Given the description of an element on the screen output the (x, y) to click on. 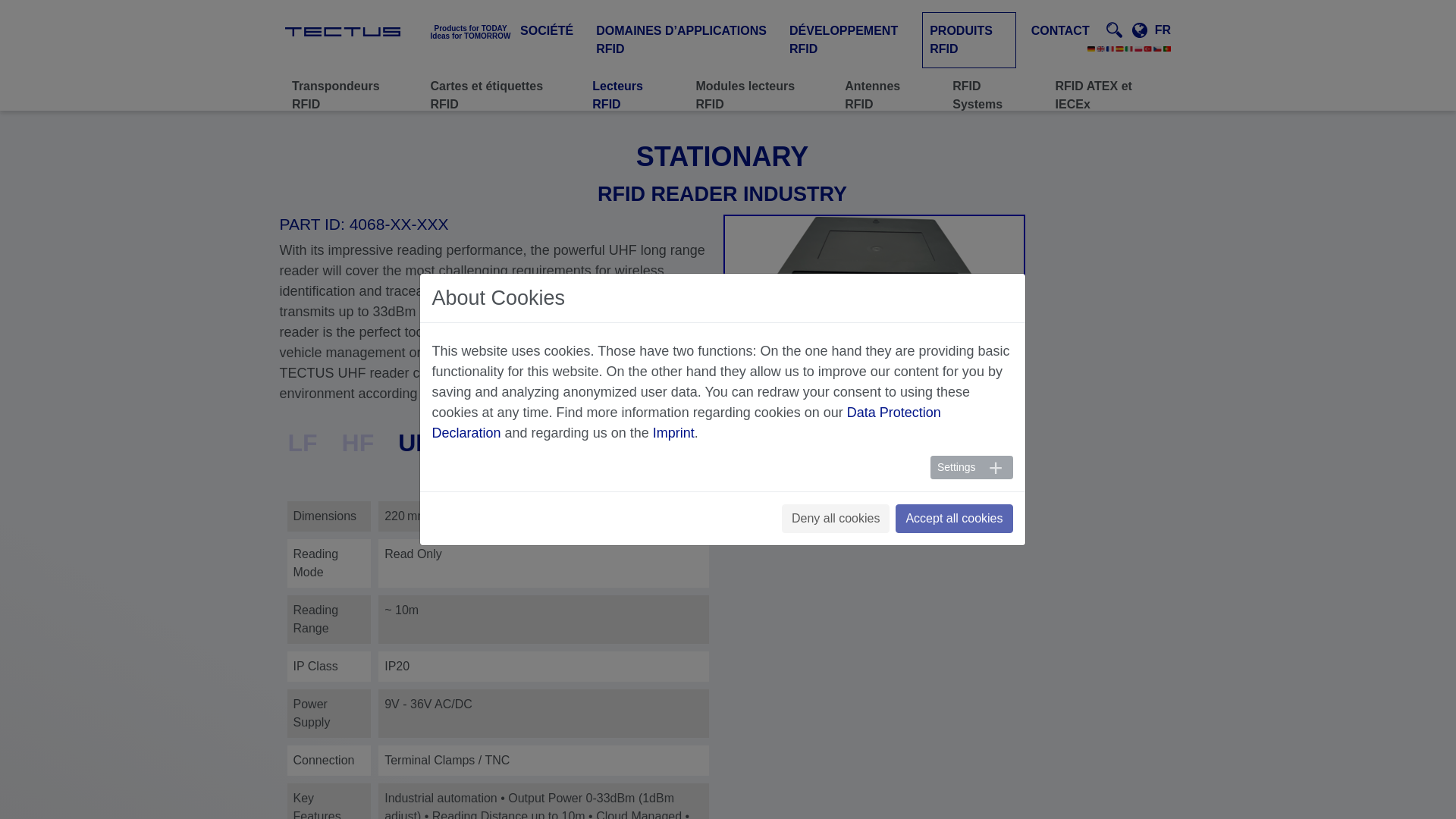
Antennes RFID (885, 82)
Search (1132, 103)
Modules lecteurs RFID (756, 82)
1 (861, 474)
PRODUITS RFID (967, 39)
TECTUS (382, 30)
RFID ATEX et IECEx (1109, 82)
CONTACT (1060, 30)
Transpondeurs RFID (348, 82)
RFID Systems (989, 82)
Lecteurs RFID (631, 82)
TECTUS (382, 30)
2 (342, 31)
